Given the description of an element on the screen output the (x, y) to click on. 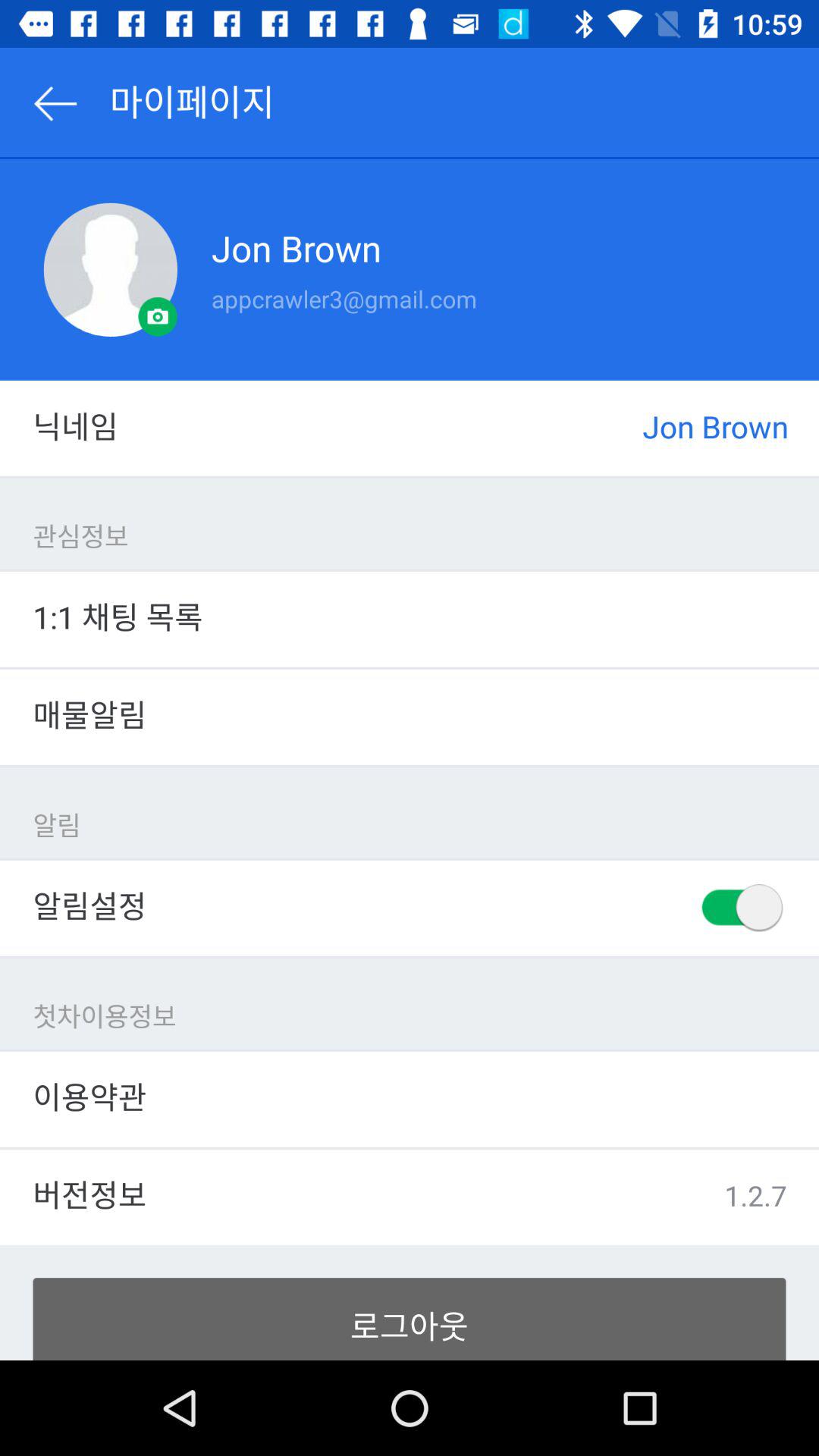
select the icon on the right (740, 908)
